Given the description of an element on the screen output the (x, y) to click on. 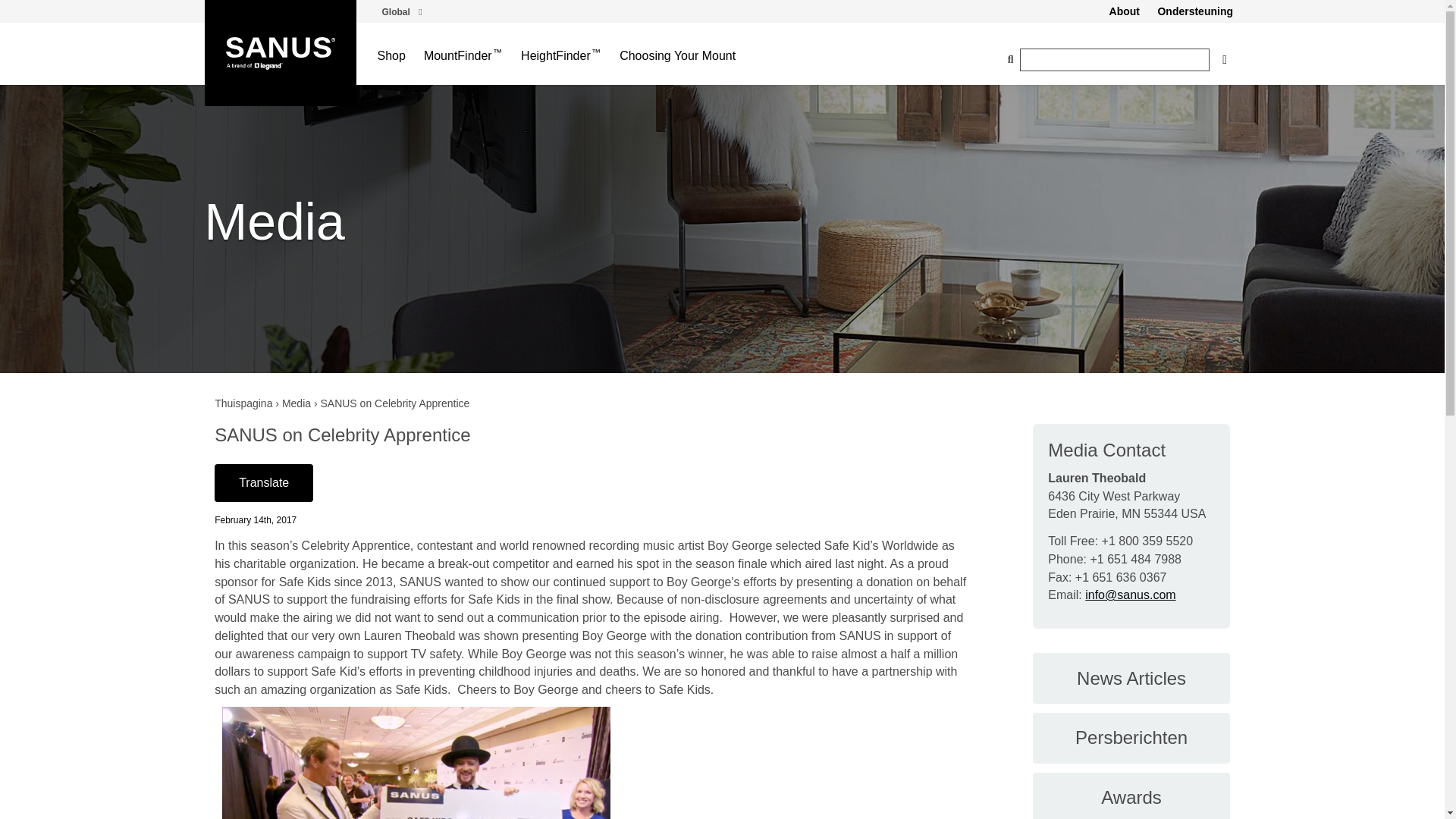
Ondersteuning (1195, 11)
About (1124, 11)
SANUS (280, 53)
